Given the description of an element on the screen output the (x, y) to click on. 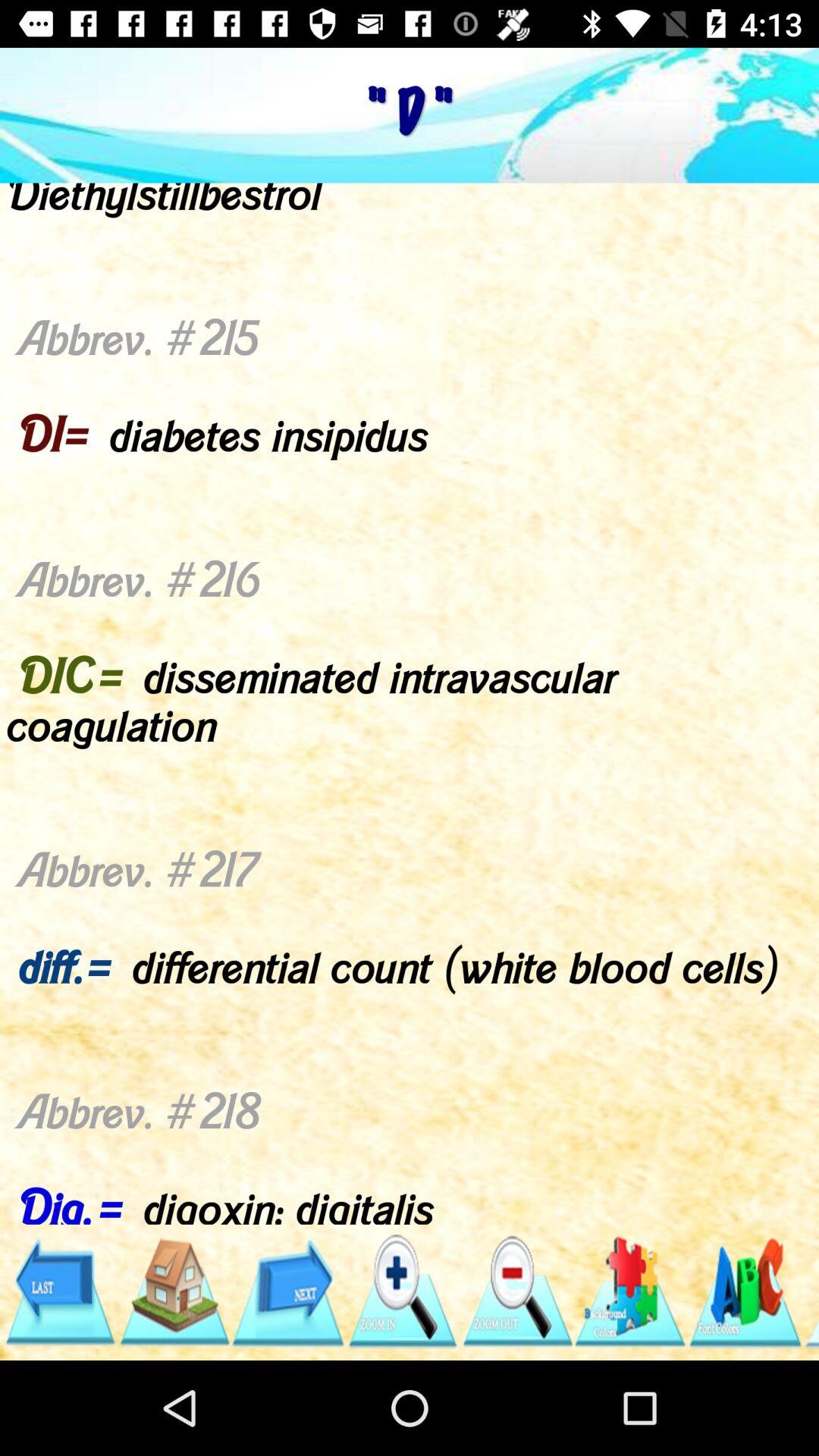
zoom in (402, 1291)
